Given the description of an element on the screen output the (x, y) to click on. 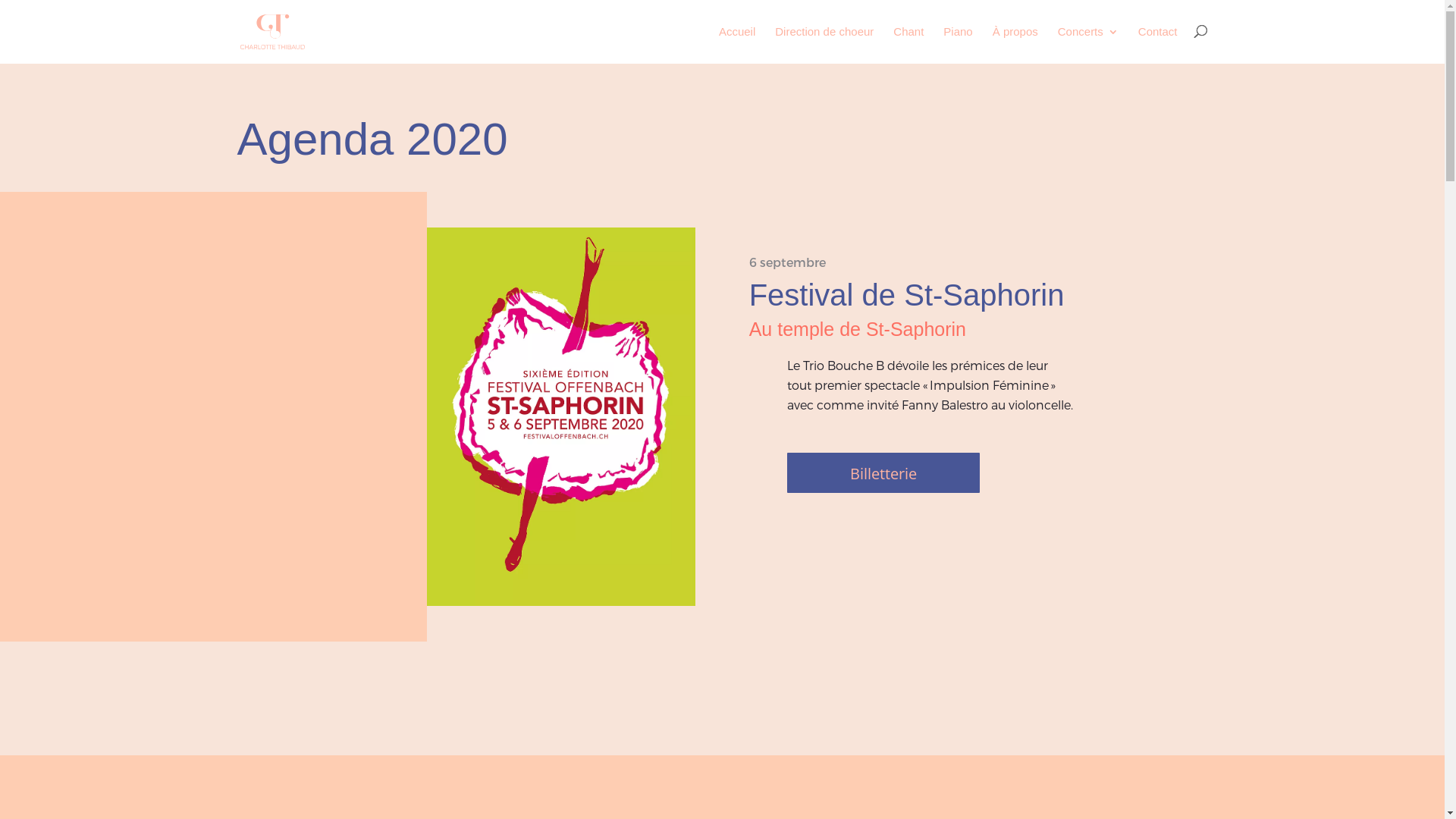
Direction de choeur Element type: text (824, 44)
Contact Element type: text (1157, 44)
Billetterie Element type: text (883, 472)
Concerts Element type: text (1087, 44)
Chant Element type: text (908, 44)
Accueil Element type: text (736, 44)
Piano Element type: text (957, 44)
FestivalOffenbach_StSaphorin Element type: hover (560, 416)
